Given the description of an element on the screen output the (x, y) to click on. 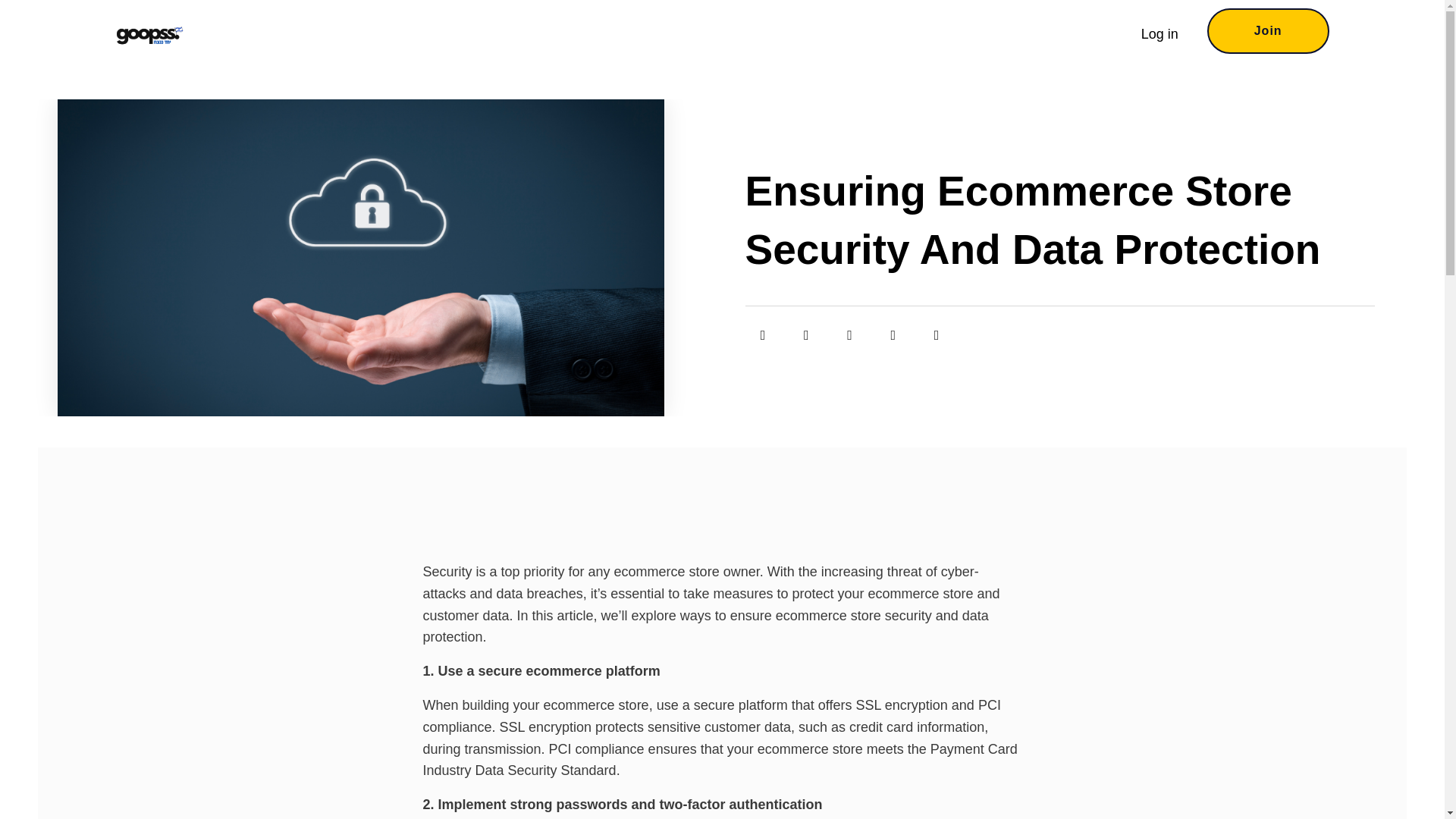
Log in (1159, 33)
Join (1268, 31)
